Given the description of an element on the screen output the (x, y) to click on. 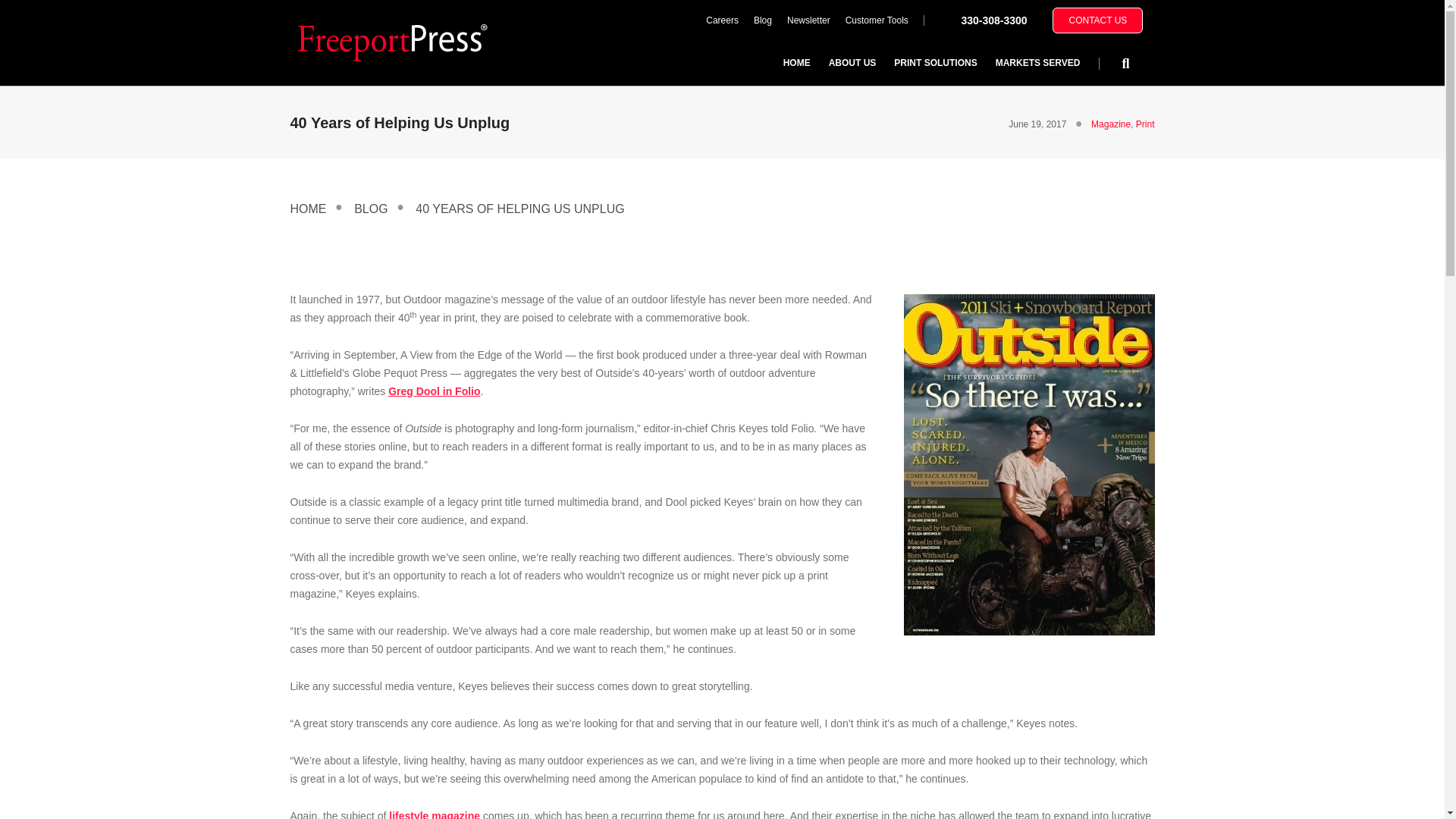
HOME (796, 62)
Blog (761, 20)
Customer Tools (876, 20)
Newsletter (808, 20)
PRINT SOLUTIONS (935, 62)
CONTACT US (1097, 20)
330-308-3300 (993, 20)
MARKETS SERVED (1038, 62)
Careers (721, 20)
ABOUT US (852, 62)
